Given the description of an element on the screen output the (x, y) to click on. 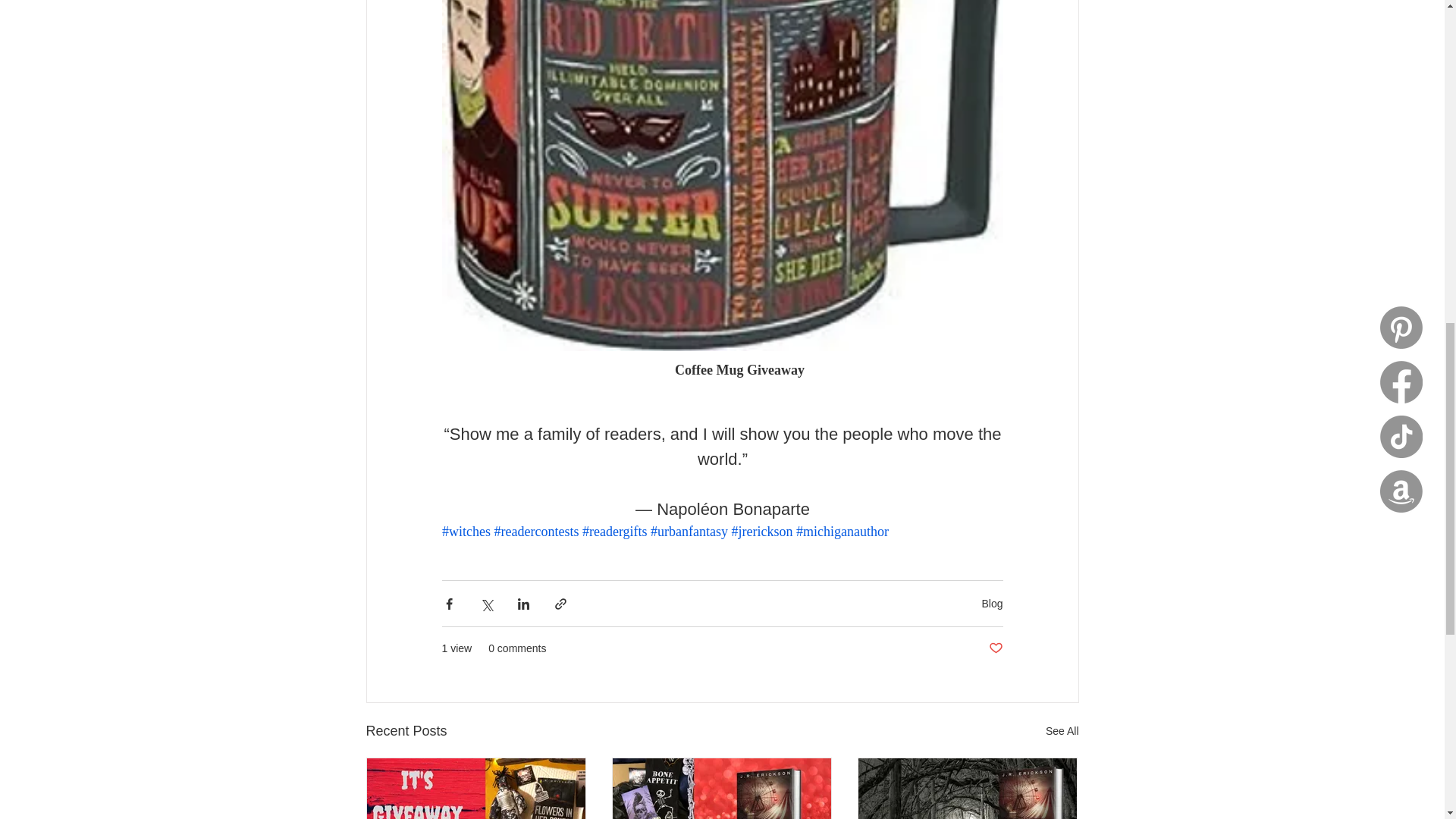
Blog (992, 603)
See All (1061, 731)
Post not marked as liked (995, 648)
